Given the description of an element on the screen output the (x, y) to click on. 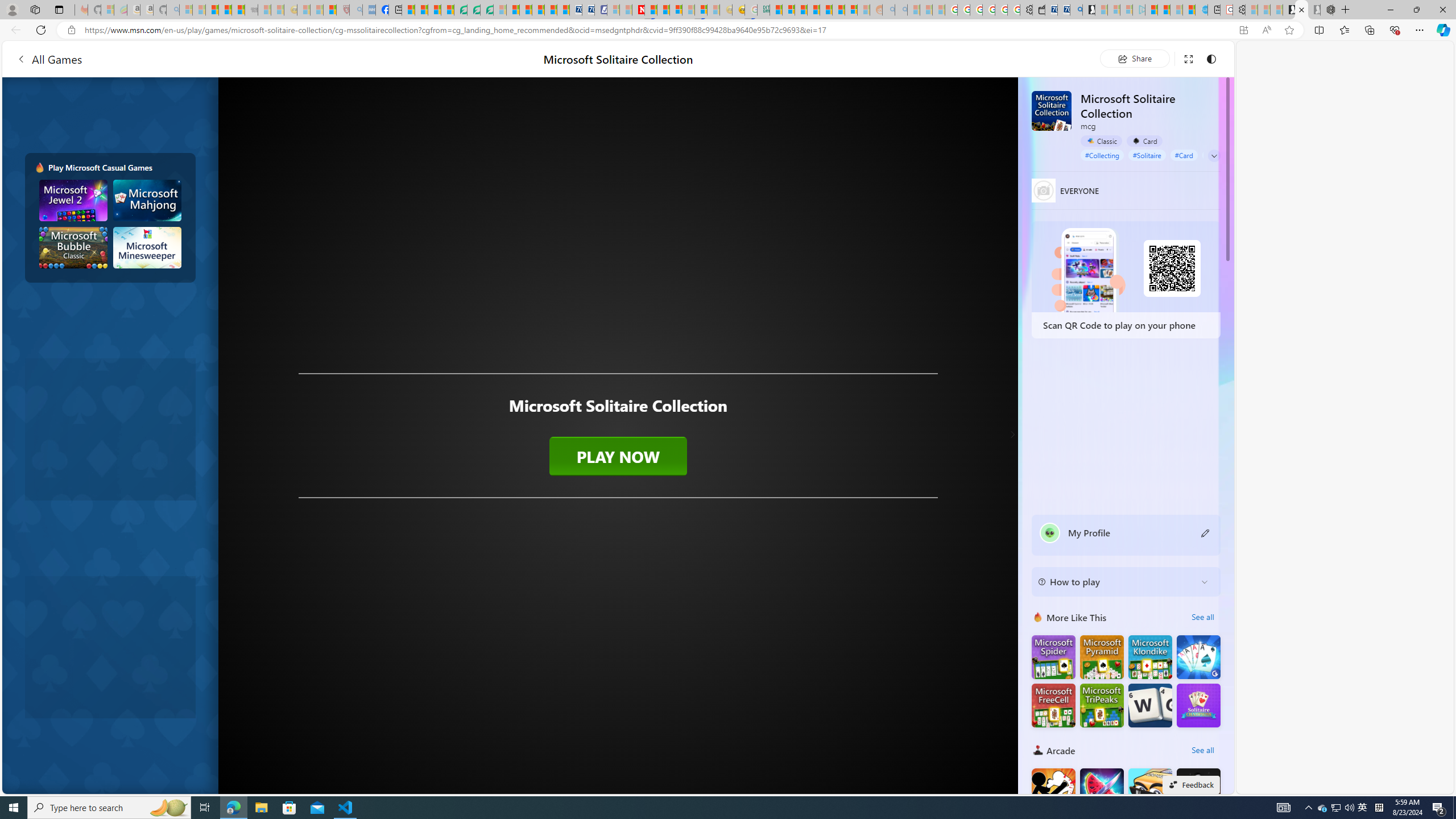
#Single Player (1227, 155)
See all (1202, 750)
Class: button edit-icon (1205, 532)
Microsoft Jewel 2 (73, 200)
Arcade (1037, 749)
Microsoft Spider Solitaire (1053, 657)
